Given the description of an element on the screen output the (x, y) to click on. 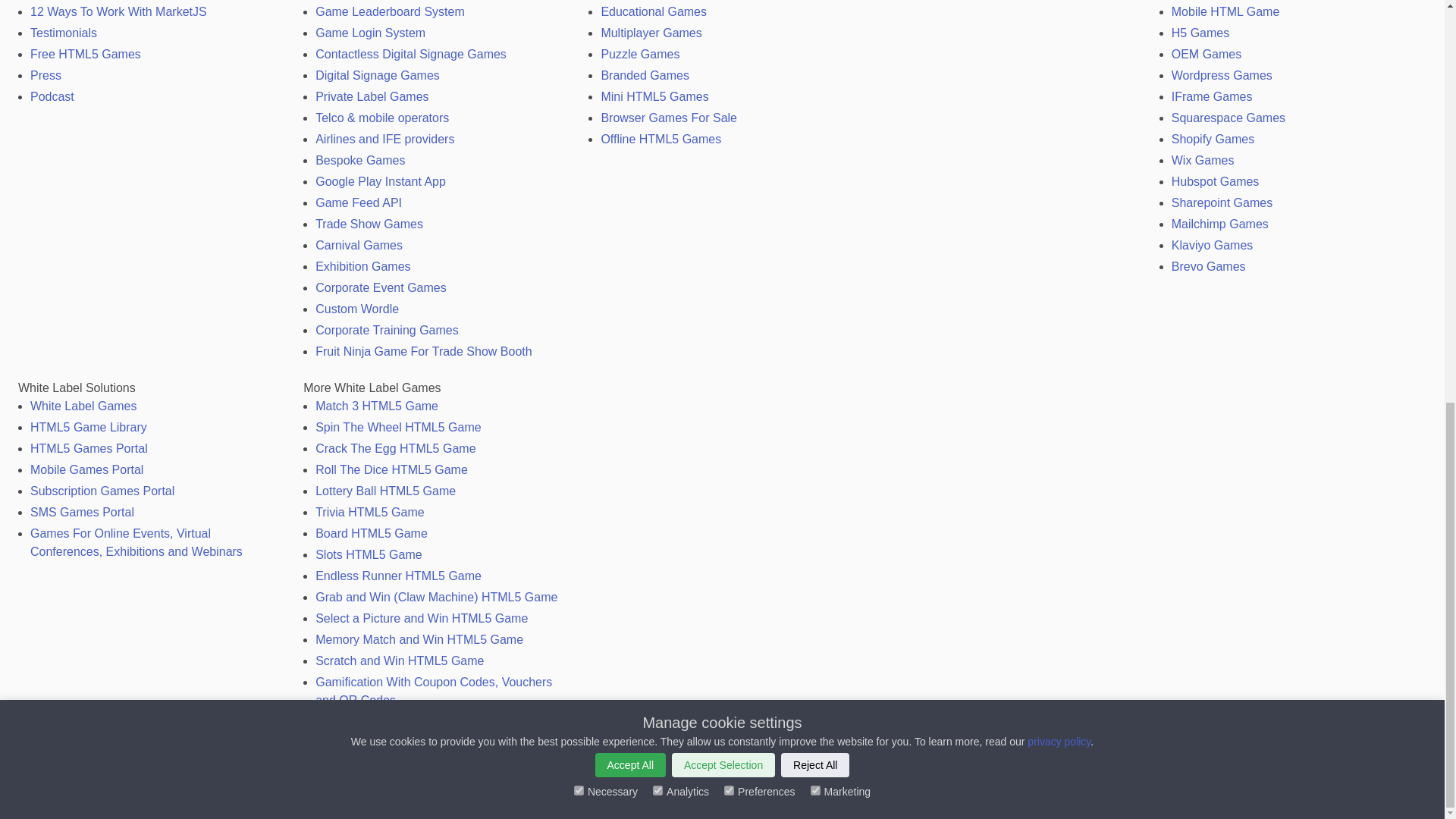
Podcast (52, 96)
12 Ways To Work With MarketJS (118, 11)
Press (45, 74)
Preferences (728, 2)
Necessary (578, 2)
Testimonials (63, 32)
Analytics (657, 2)
Marketing (815, 2)
Free HTML5 Games (85, 53)
